Given the description of an element on the screen output the (x, y) to click on. 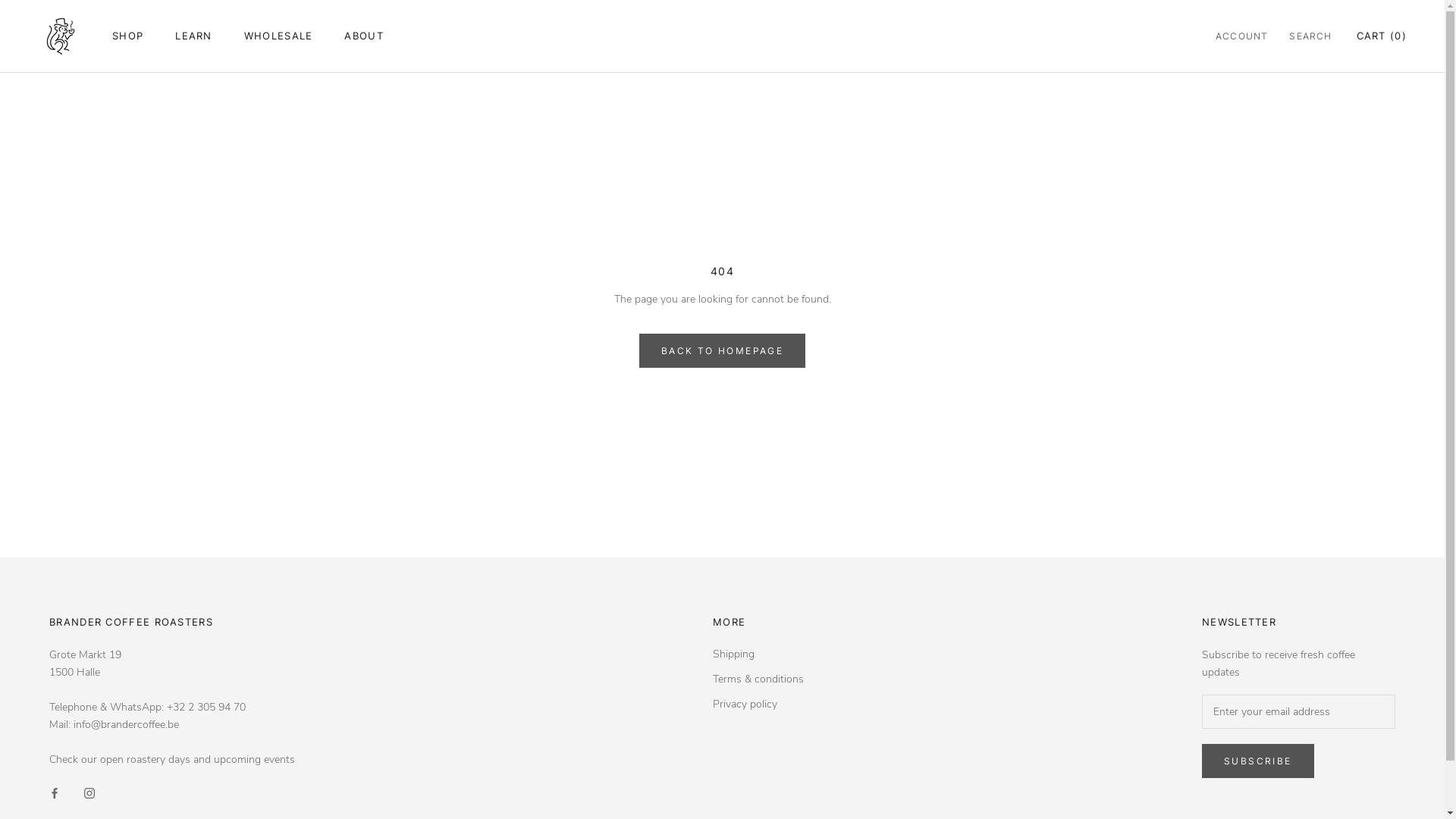
Terms & conditions Element type: text (757, 679)
Check our open roastery days and upcoming events Element type: text (171, 759)
CART (0) Element type: text (1381, 35)
WHOLESALE Element type: text (278, 35)
ABOUT Element type: text (363, 35)
BACK TO HOMEPAGE Element type: text (722, 350)
LEARN Element type: text (193, 35)
Privacy policy Element type: text (757, 704)
SUBSCRIBE Element type: text (1257, 760)
Shipping Element type: text (757, 654)
ACCOUNT Element type: text (1241, 35)
SHOP
SHOP Element type: text (127, 35)
info@brandercoffee.be Element type: text (125, 724)
SEARCH Element type: text (1310, 35)
